Given the description of an element on the screen output the (x, y) to click on. 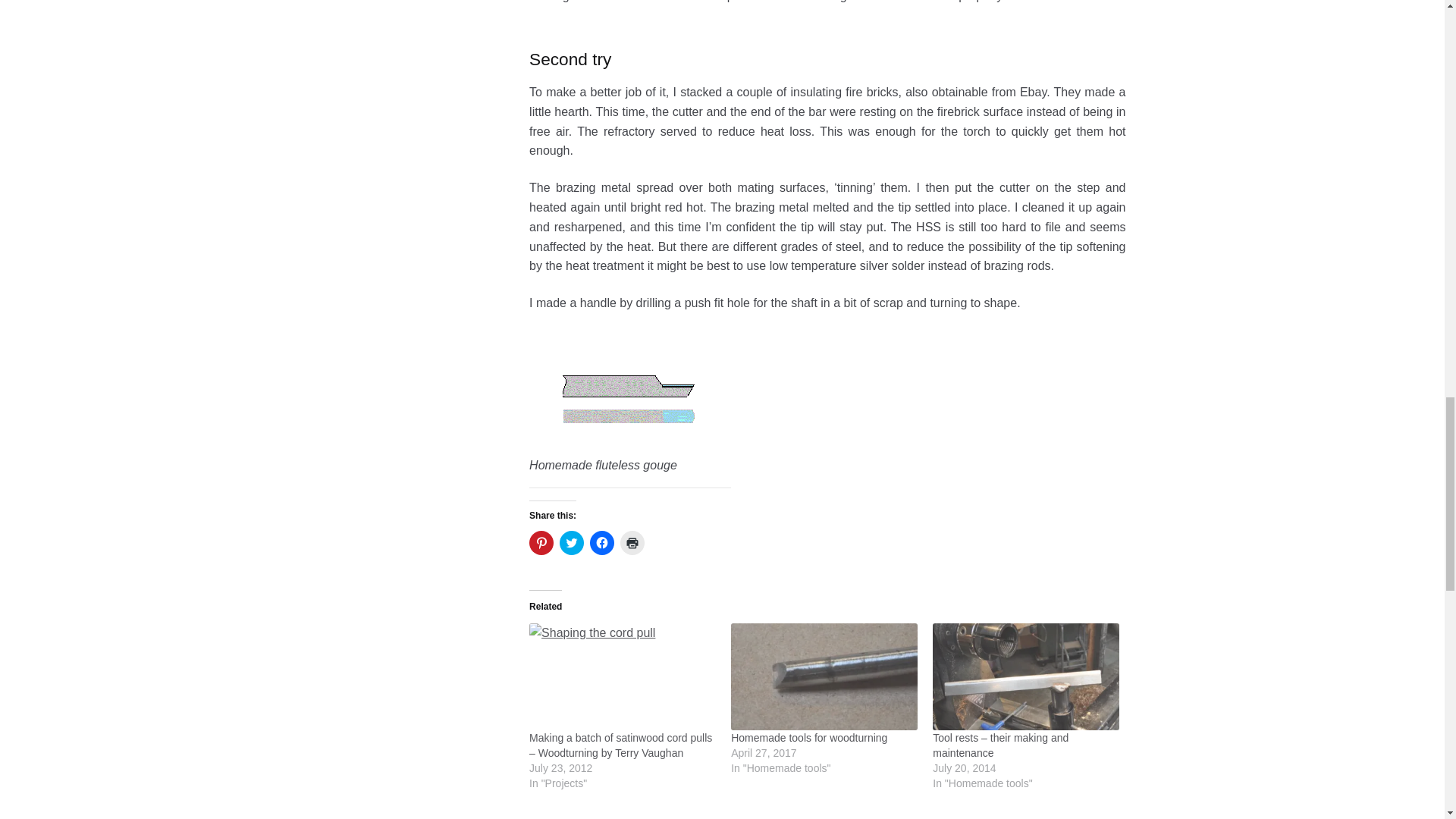
Click to share on Pinterest (541, 542)
Homemade tools for woodturning (823, 676)
Homemade tools for woodturning (808, 737)
Homemade tools for woodturning (808, 737)
Click to share on Twitter (571, 542)
Click to print (632, 542)
Click to share on Facebook (601, 542)
